Given the description of an element on the screen output the (x, y) to click on. 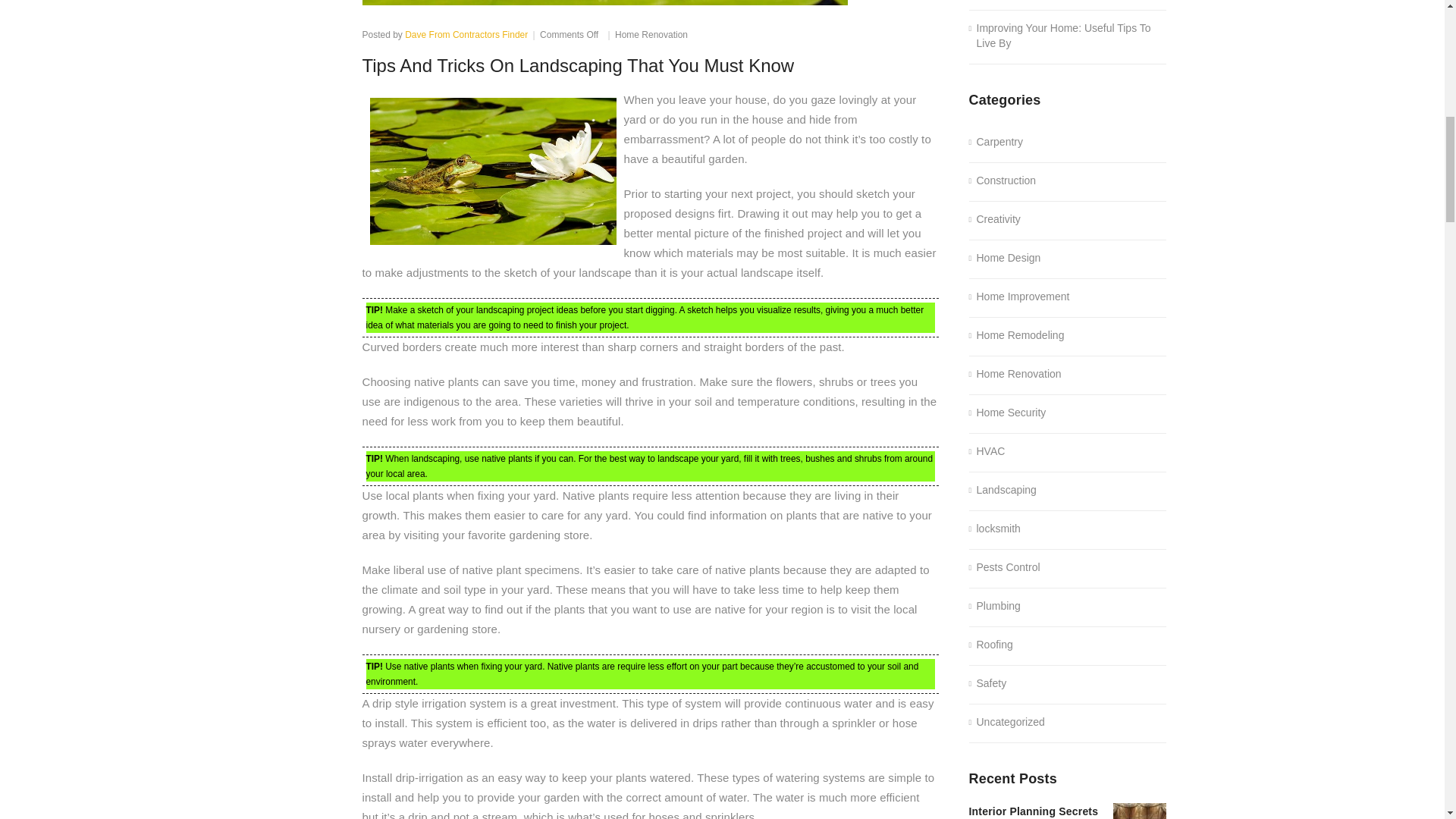
Improving Your Home: Useful Tips To Live By (1067, 36)
Home Improvement (1019, 296)
Home Remodeling (1016, 335)
Home Renovation (1015, 374)
Construction (1002, 181)
Home Renovation (650, 34)
Home Design (1005, 258)
Creativity (994, 219)
HVAC (987, 451)
Carpentry (996, 142)
Dave From Contractors Finder (465, 34)
Home Security (1007, 412)
